Given the description of an element on the screen output the (x, y) to click on. 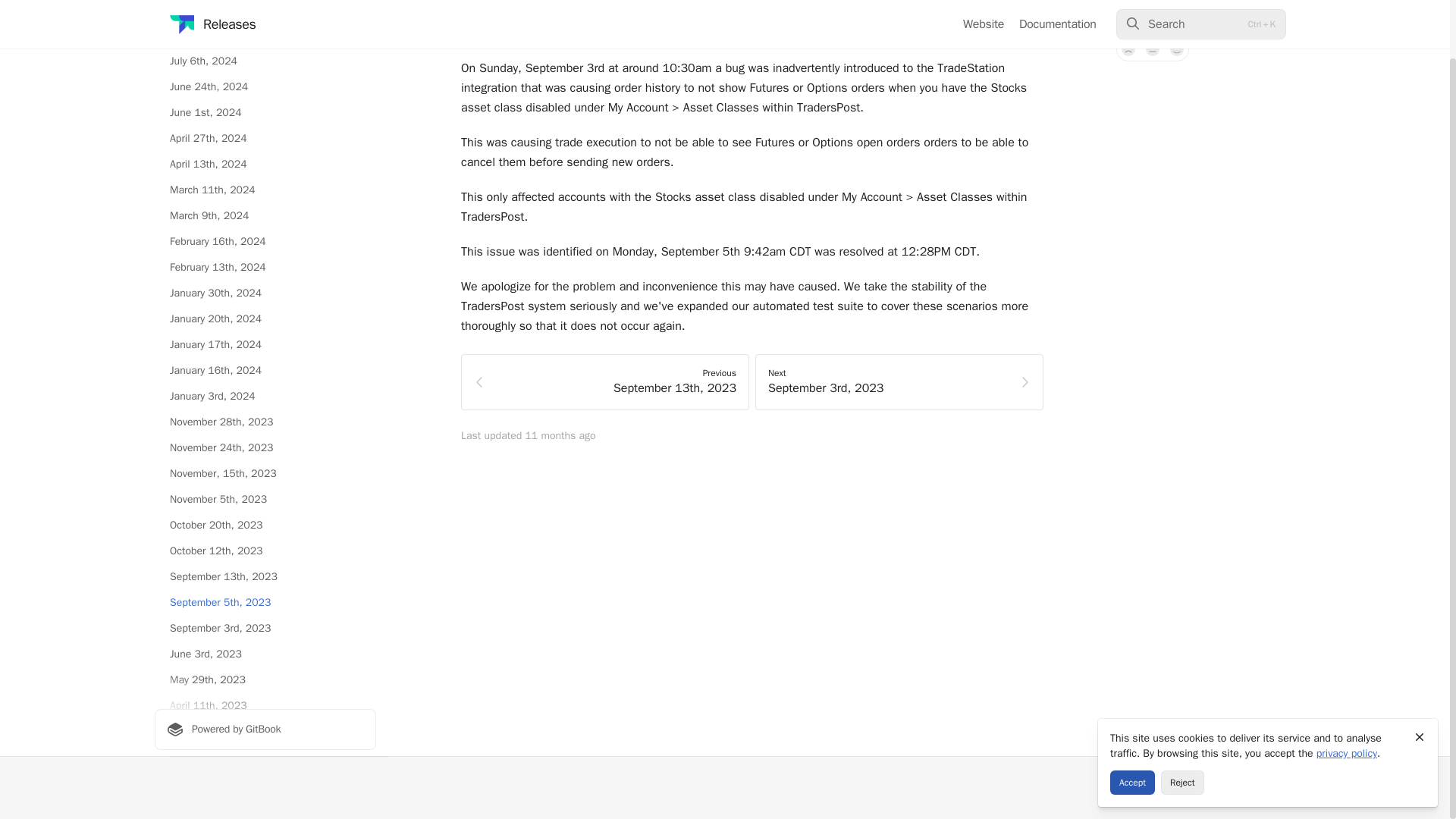
February 16th, 2024 (264, 241)
March 9th, 2024 (264, 215)
May 29th, 2023 (264, 680)
Upcoming Release (264, 11)
June 24th, 2024 (264, 87)
January 20th, 2024 (264, 319)
January 30th, 2024 (264, 293)
February 13th, 2024 (264, 267)
Not sure (1152, 48)
June 1st, 2024 (264, 112)
No (1128, 48)
January 16th, 2024 (264, 370)
September 3rd, 2023 (264, 628)
November 24th, 2023 (264, 447)
Close (1419, 674)
